Given the description of an element on the screen output the (x, y) to click on. 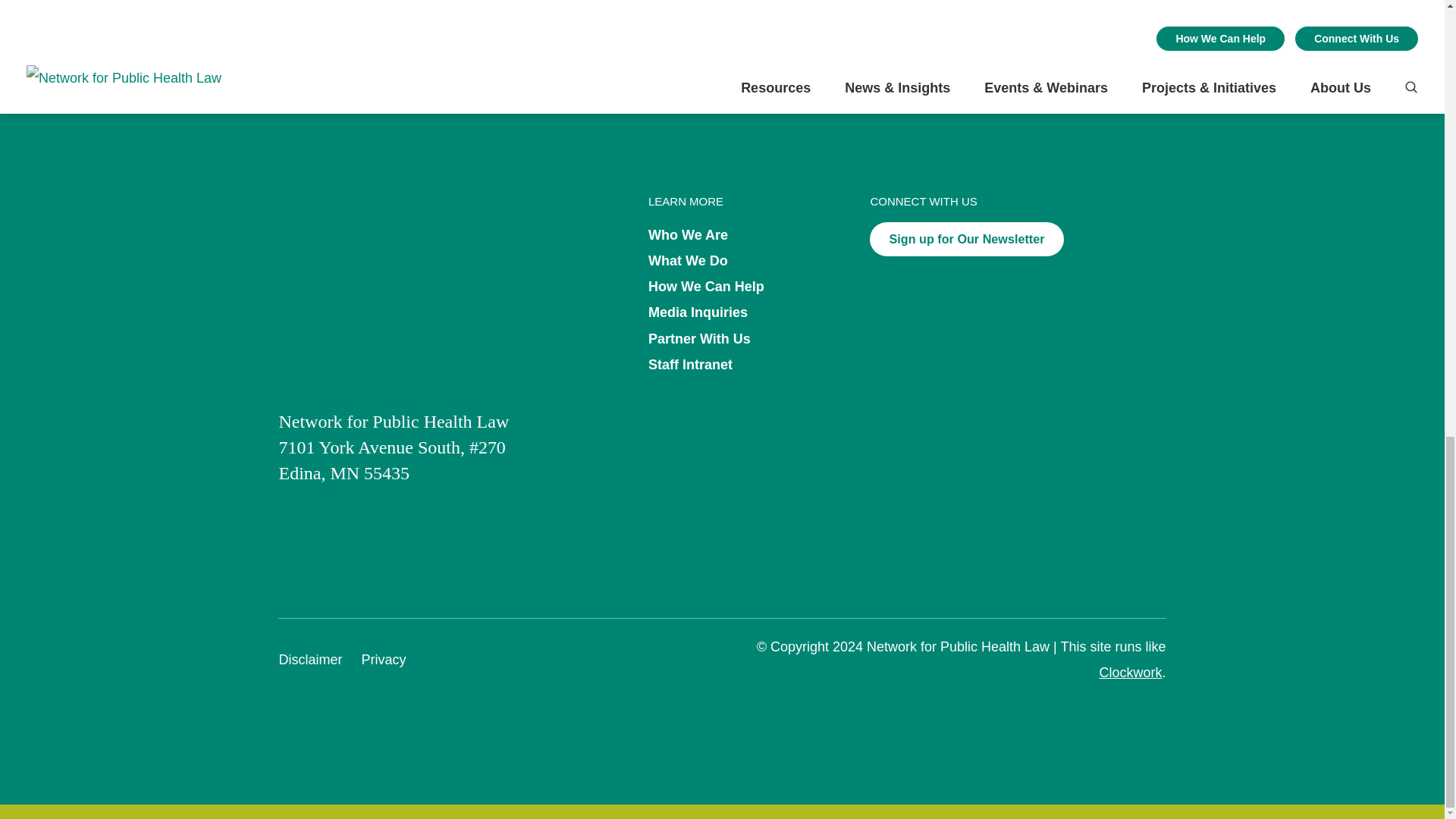
Email (506, 4)
Facebook (445, 4)
Twitter (476, 4)
